Given the description of an element on the screen output the (x, y) to click on. 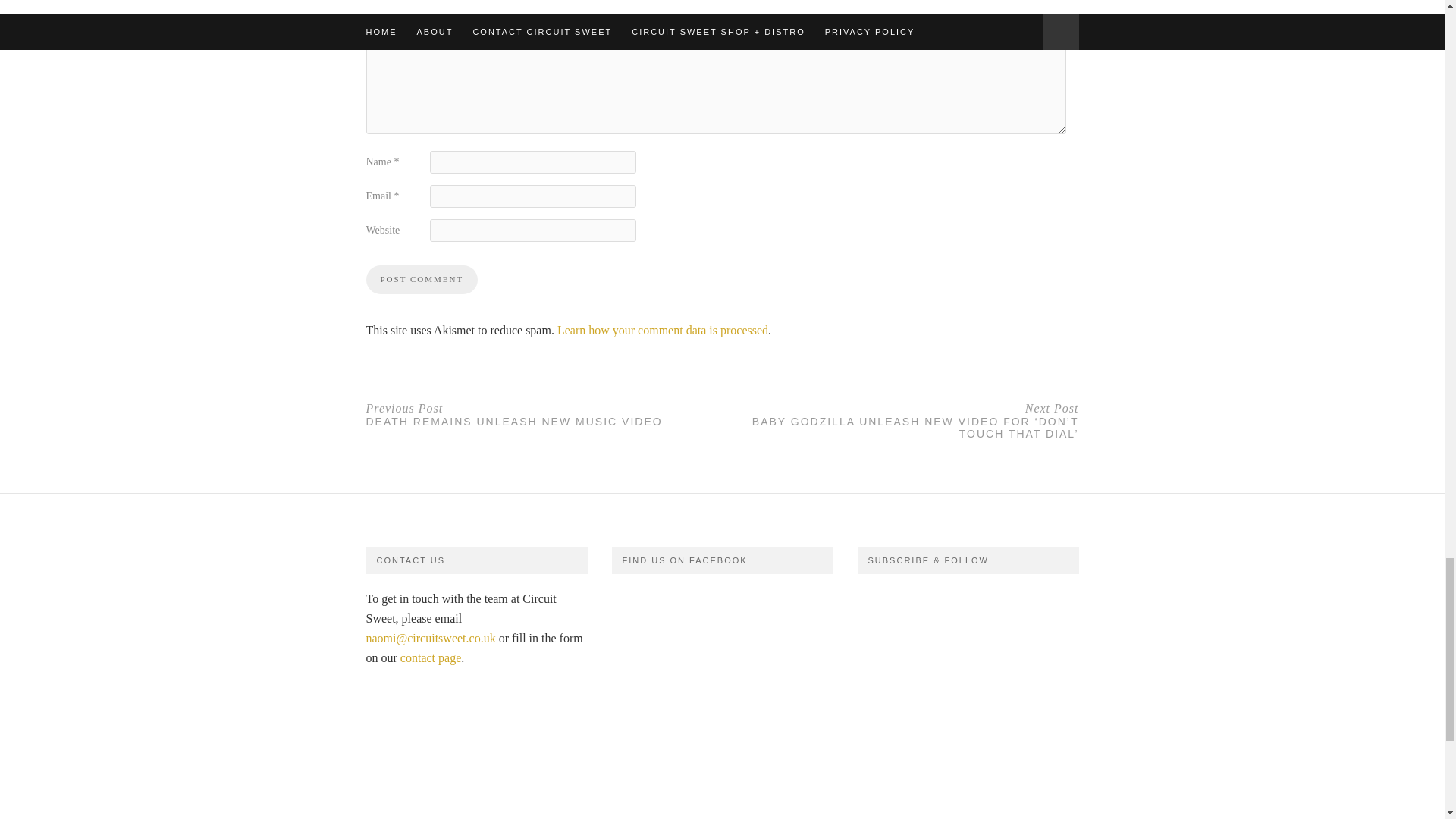
Post Comment (421, 279)
Learn how your comment data is processed (662, 329)
contact page (430, 657)
Post Comment (543, 414)
